Given the description of an element on the screen output the (x, y) to click on. 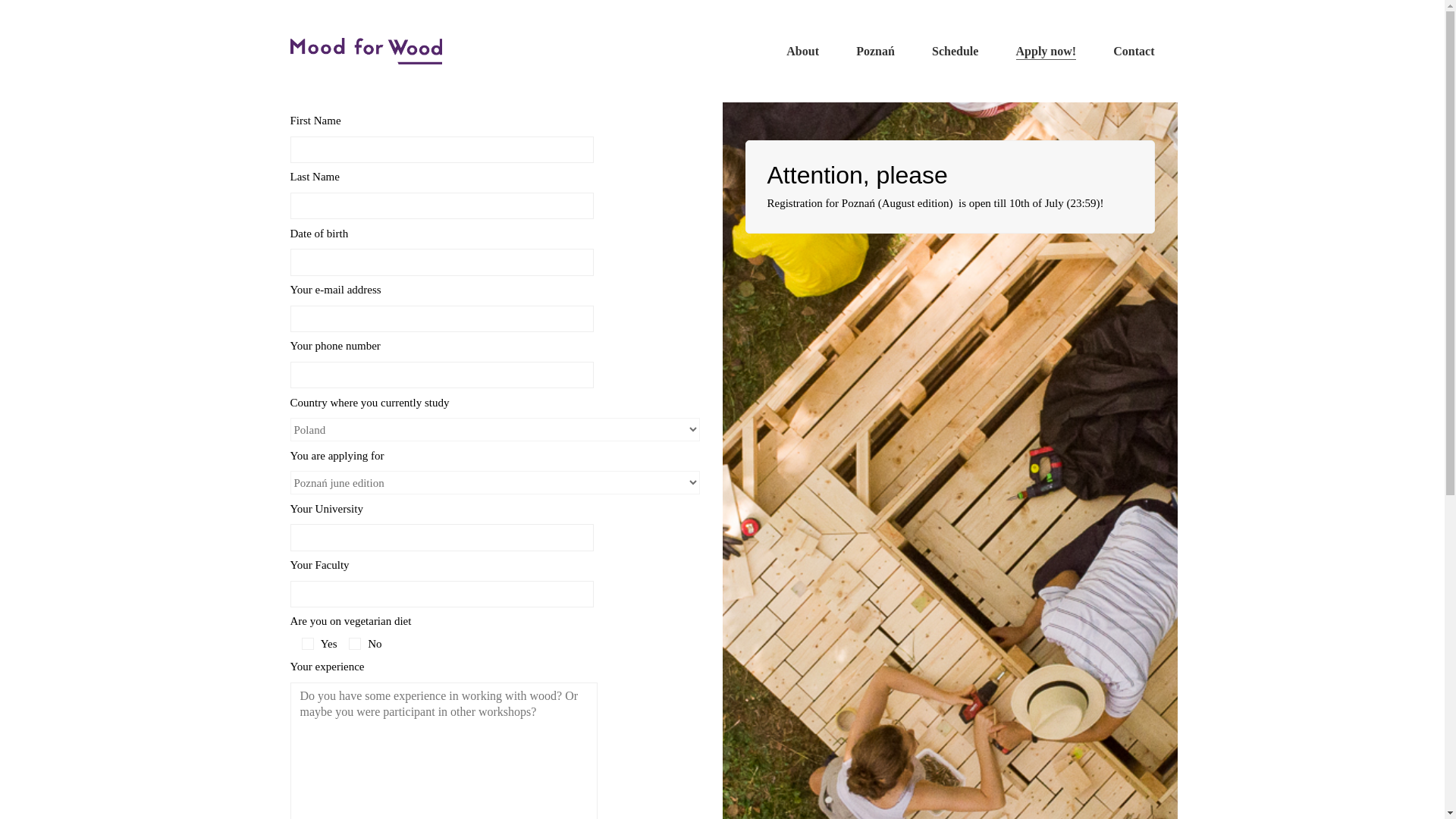
Schedule (954, 50)
About (802, 50)
Yes (307, 644)
No (355, 644)
Apply now! (1046, 50)
Contact (1133, 50)
